Given the description of an element on the screen output the (x, y) to click on. 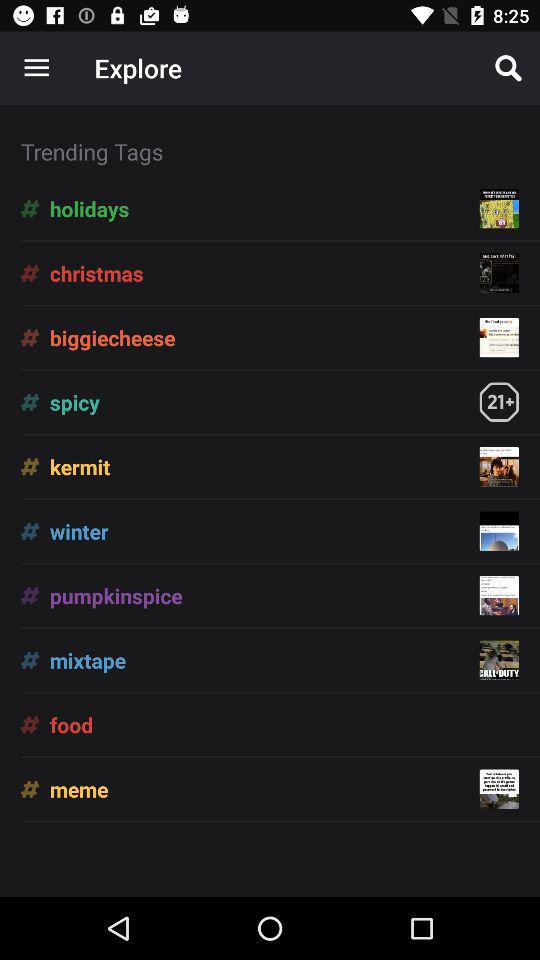
turn off the item above trending tags icon (508, 68)
